Given the description of an element on the screen output the (x, y) to click on. 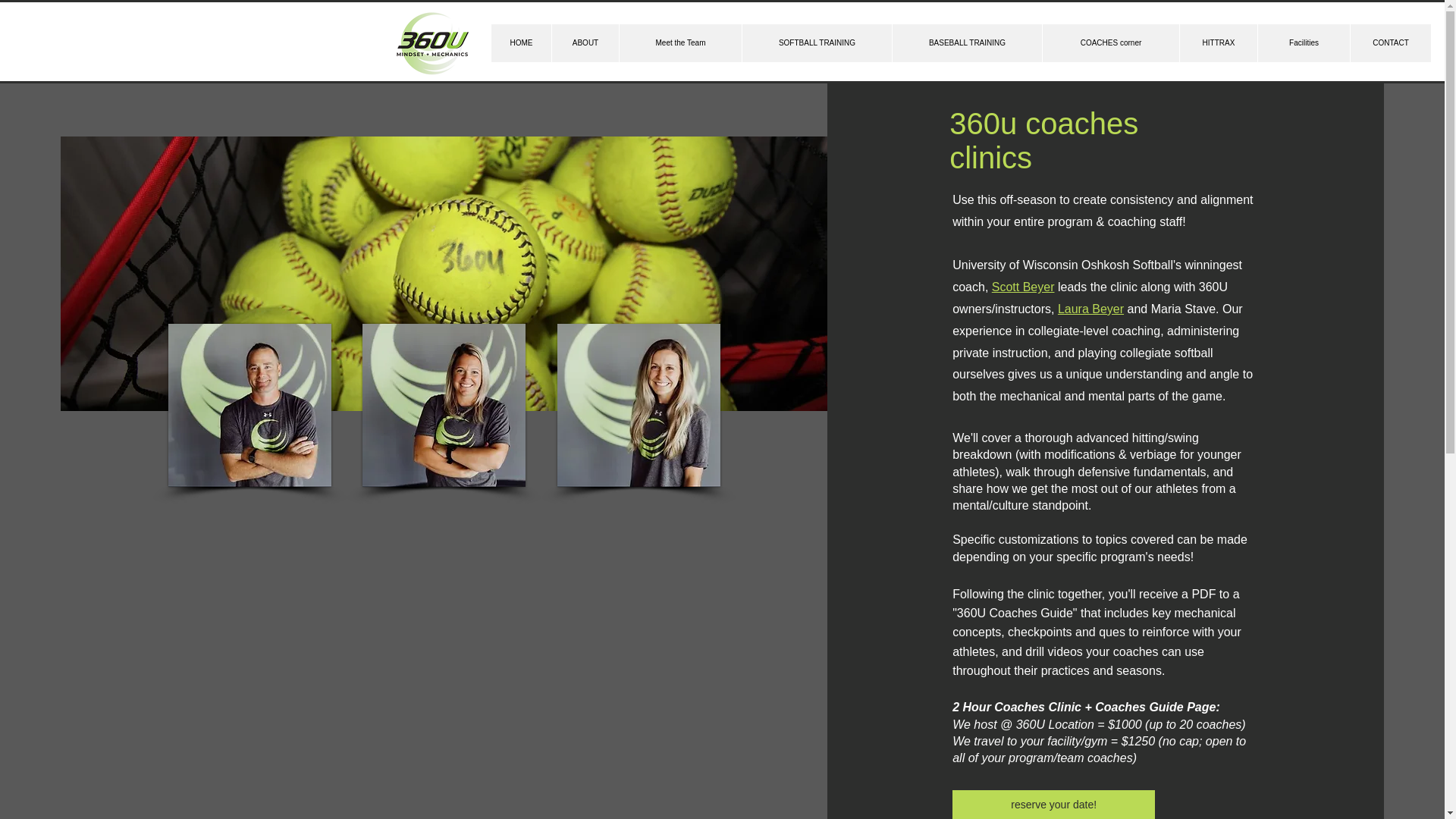
HOME (521, 43)
Scott Beyer (1022, 286)
SOFTBALL TRAINING (816, 43)
BASEBALL TRAINING (966, 43)
HITTRAX (1218, 43)
Laura Beyer (1091, 308)
ABOUT (584, 43)
reserve your date! (1053, 804)
